Given the description of an element on the screen output the (x, y) to click on. 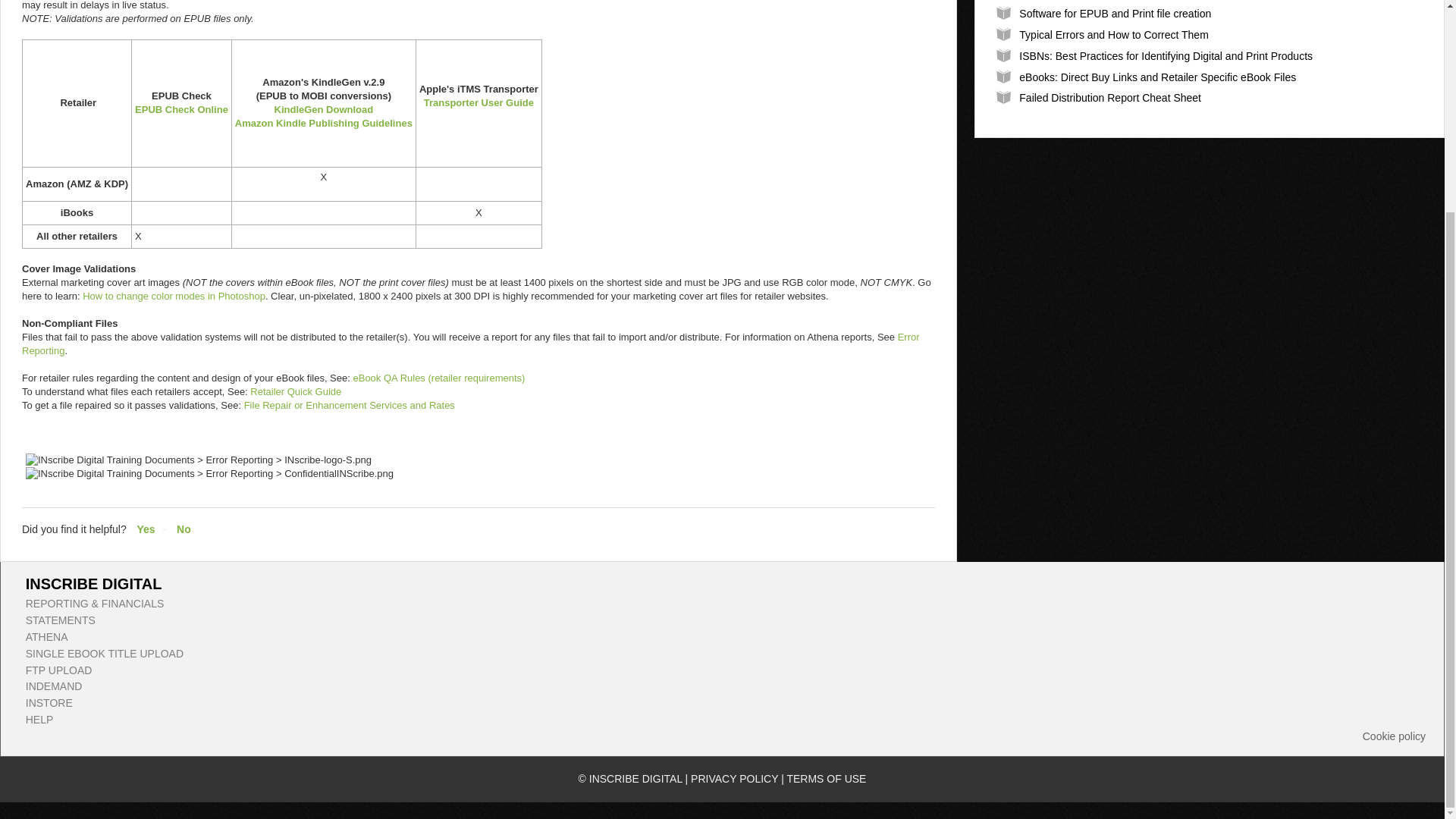
Why we love Cookies (1393, 736)
File Repair or Enhancement Services and Rates (349, 405)
How to change color modes in Photoshop (173, 296)
KindleGen Download (324, 109)
Error Reporting (470, 343)
Transporter User Guide (478, 102)
Retailer Quick Guide (295, 391)
Amazon Kindle Publishing Guidelines (323, 122)
EPUB Check Online (181, 109)
